Given the description of an element on the screen output the (x, y) to click on. 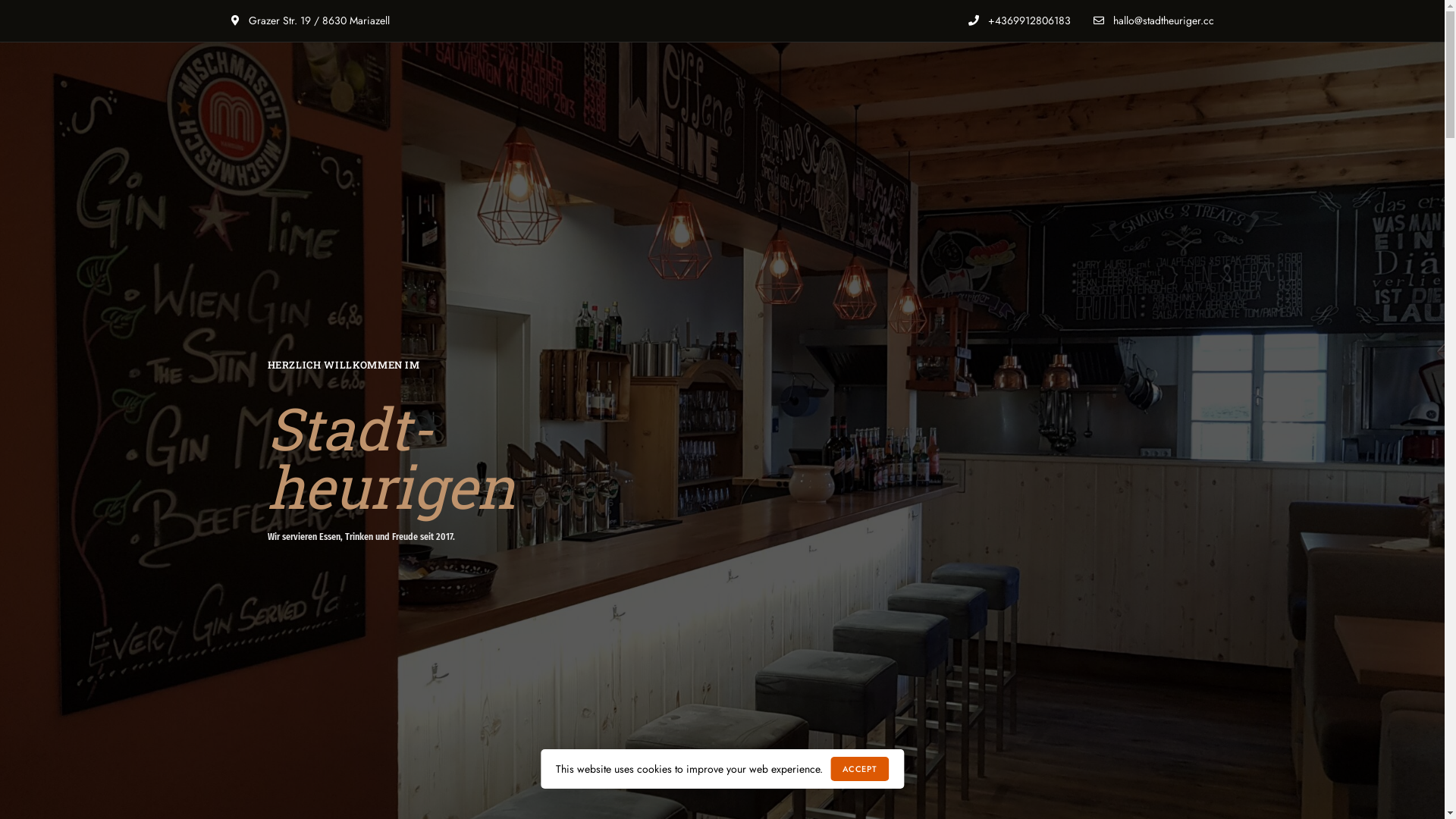
Grazer Str. 19 / 8630 Mariazell Element type: text (309, 20)
hallo@stadtheuriger.cc Element type: text (1153, 20)
ACCEPT Element type: text (859, 768)
+4369912806183 Element type: text (1018, 20)
